Given the description of an element on the screen output the (x, y) to click on. 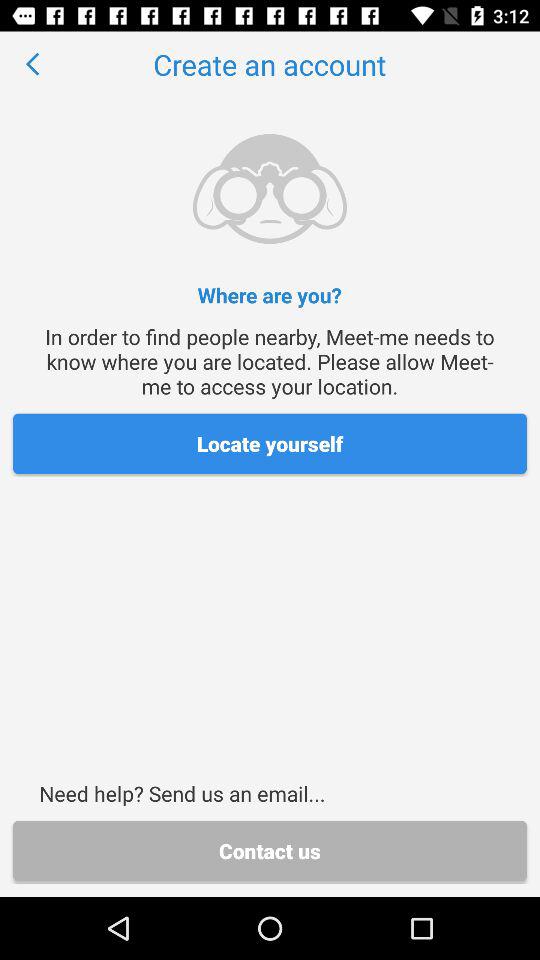
turn off the contact us (269, 850)
